Given the description of an element on the screen output the (x, y) to click on. 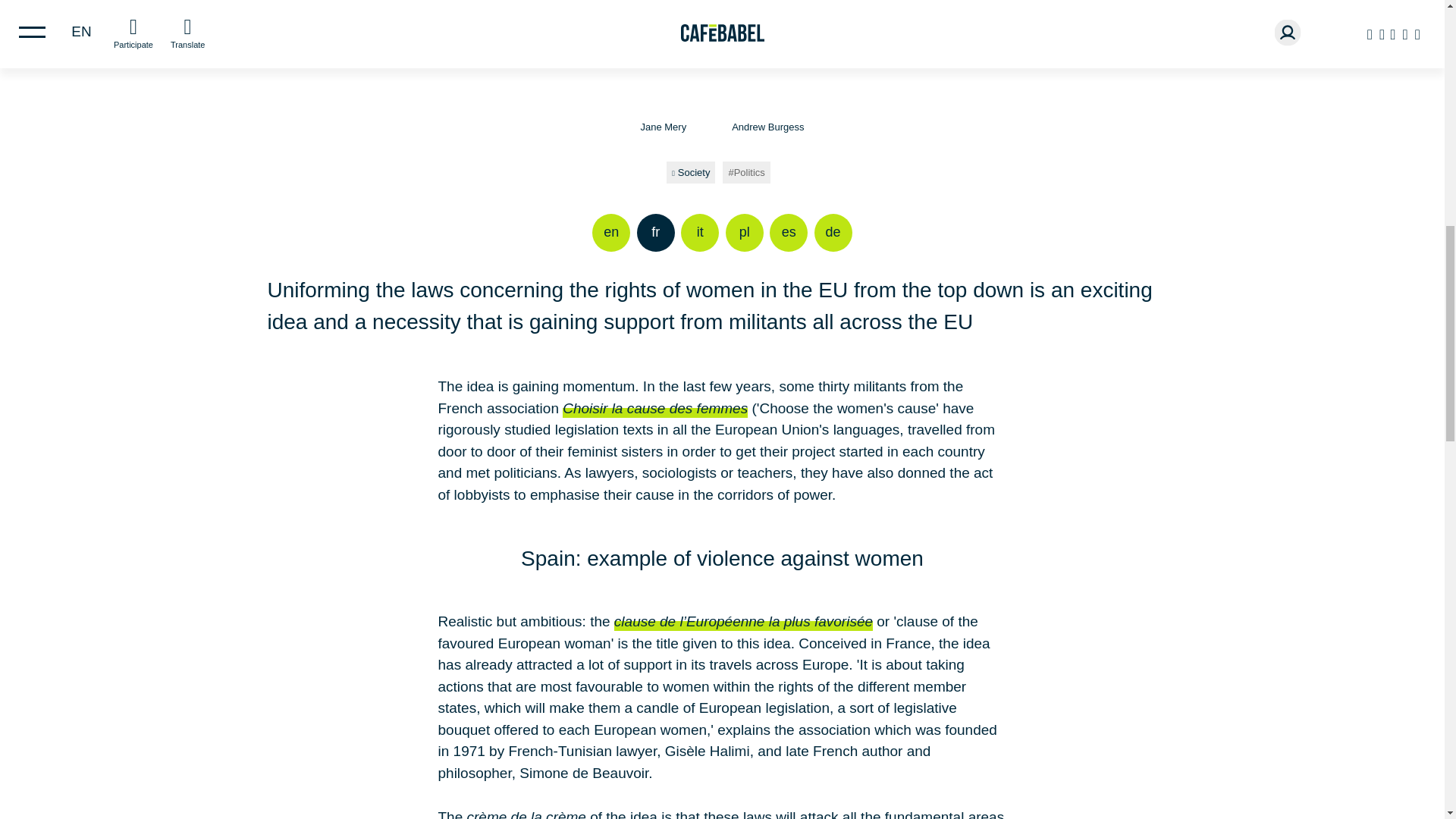
Original language (656, 232)
